Given the description of an element on the screen output the (x, y) to click on. 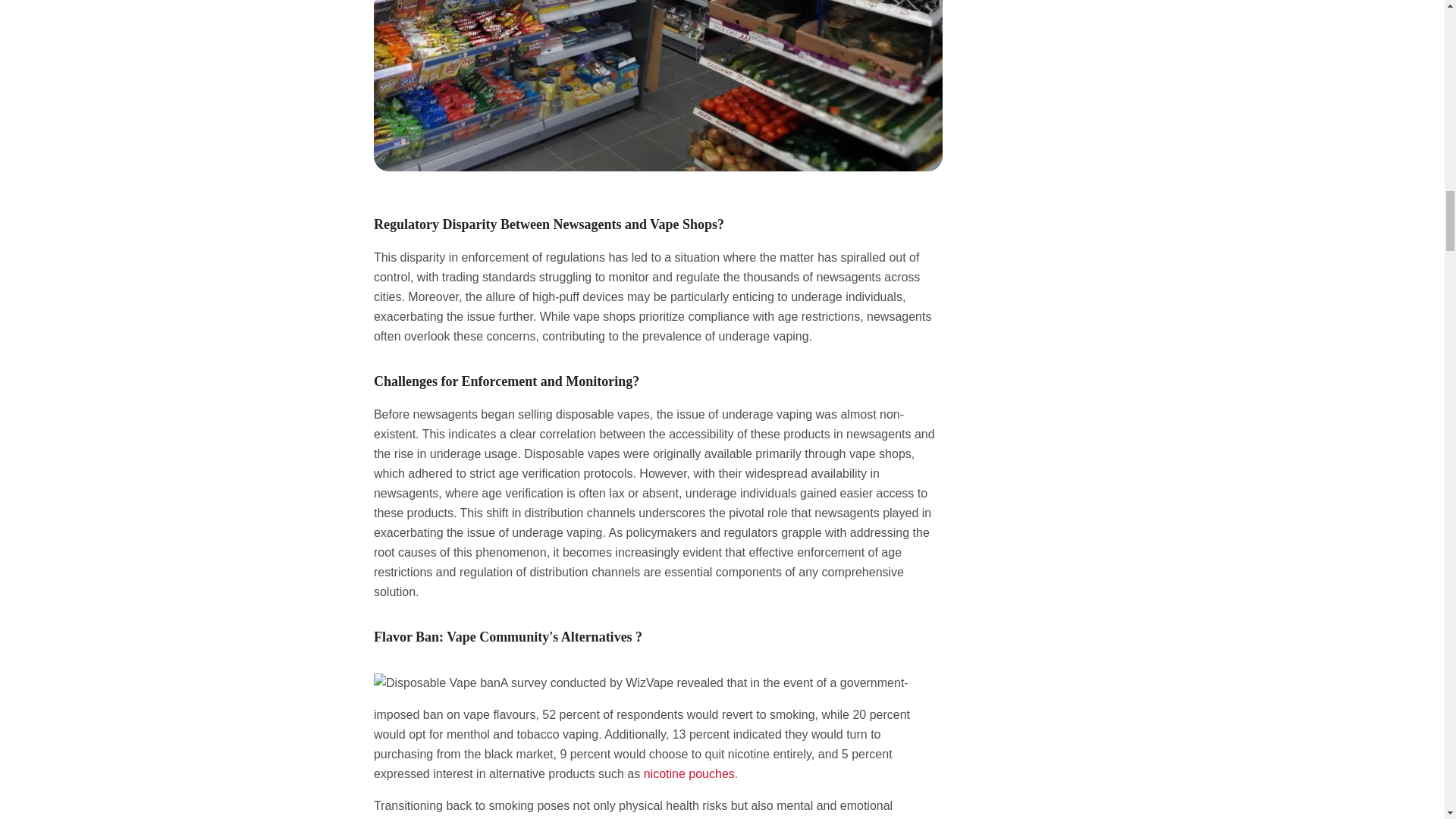
nicotine pouches (689, 773)
